Given the description of an element on the screen output the (x, y) to click on. 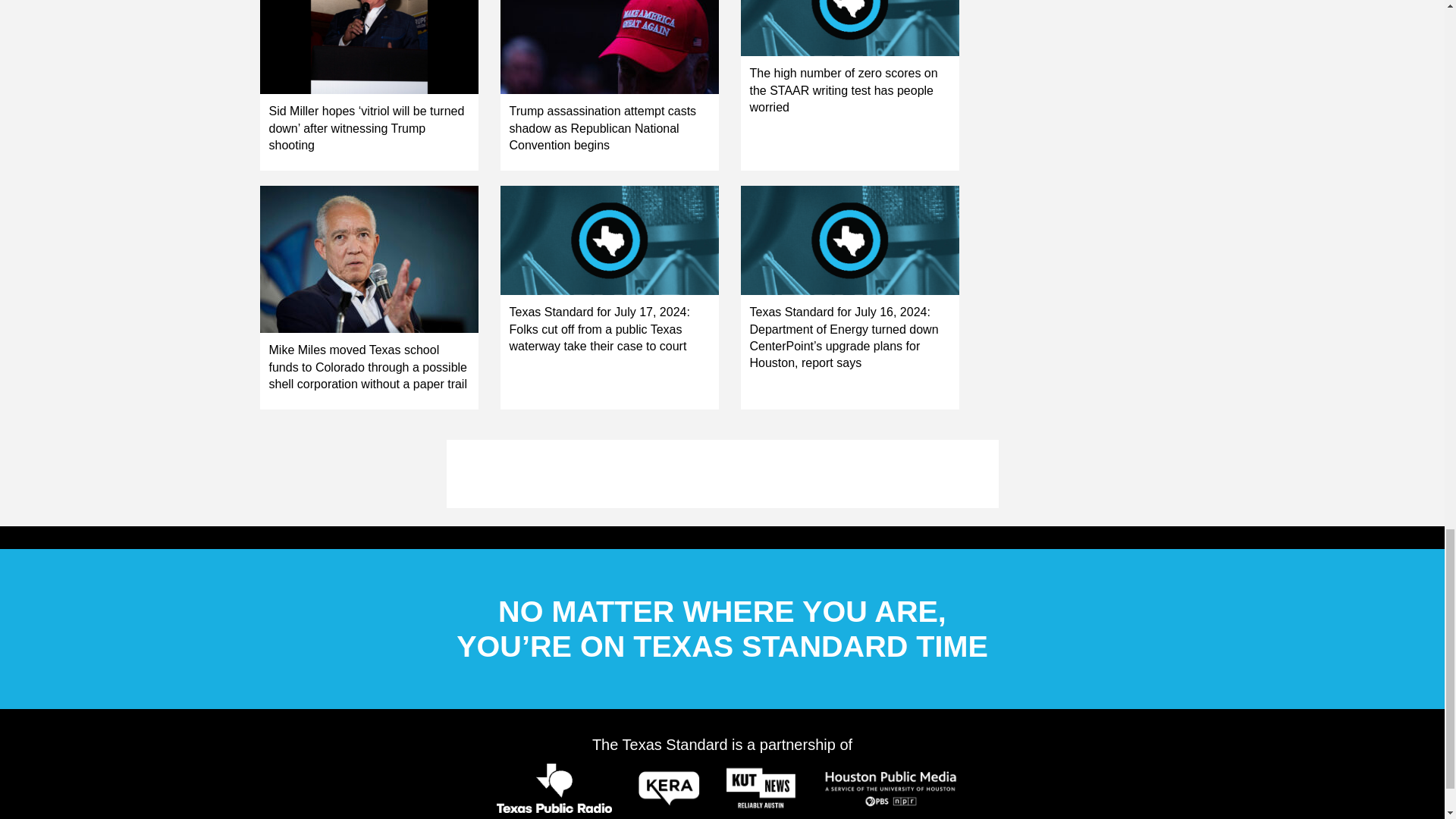
3rd party ad content (721, 473)
